Given the description of an element on the screen output the (x, y) to click on. 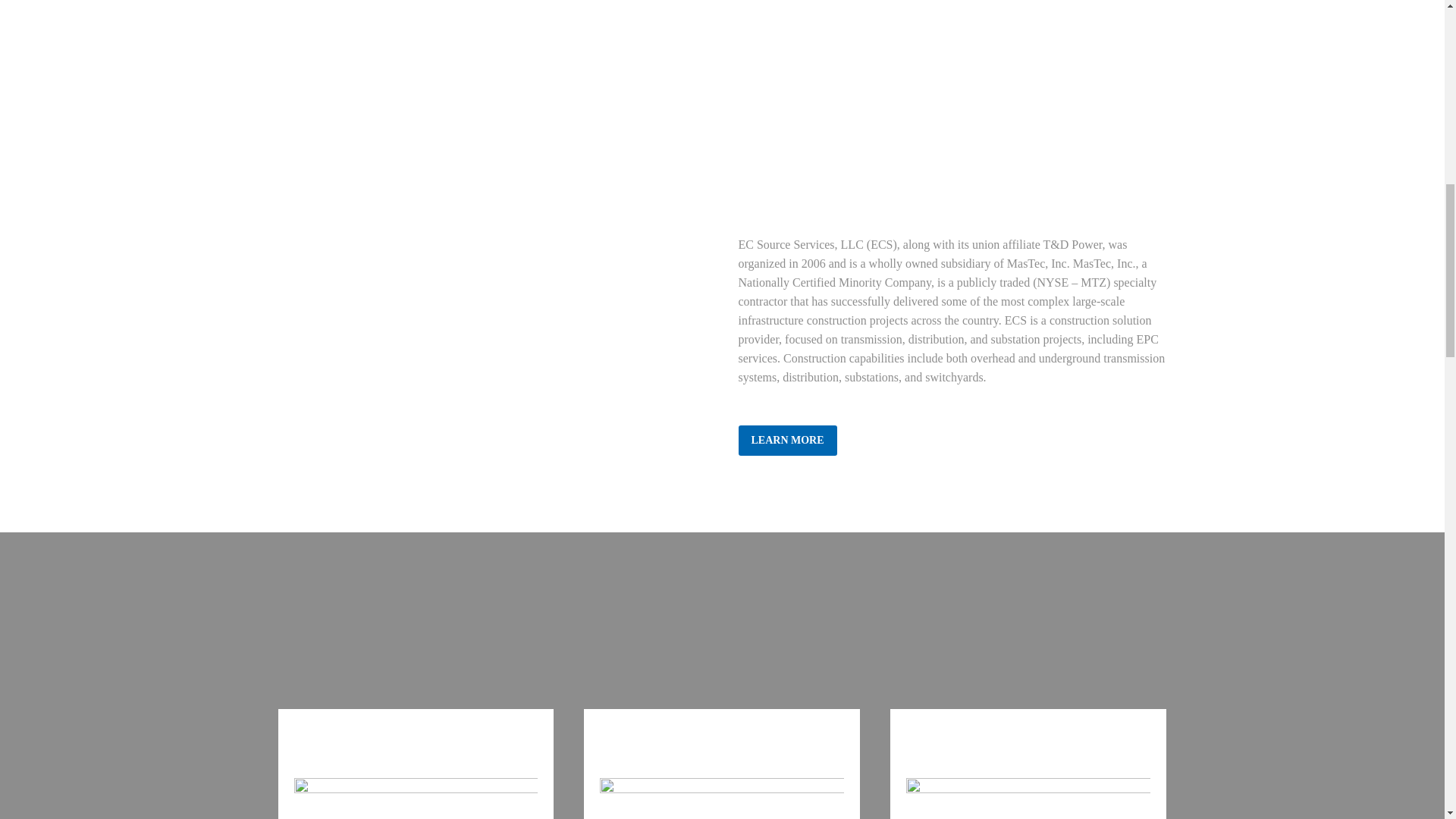
transmission (416, 798)
LEARN MORE (787, 440)
substation (1027, 798)
distribution (721, 798)
About Us (787, 440)
